Given the description of an element on the screen output the (x, y) to click on. 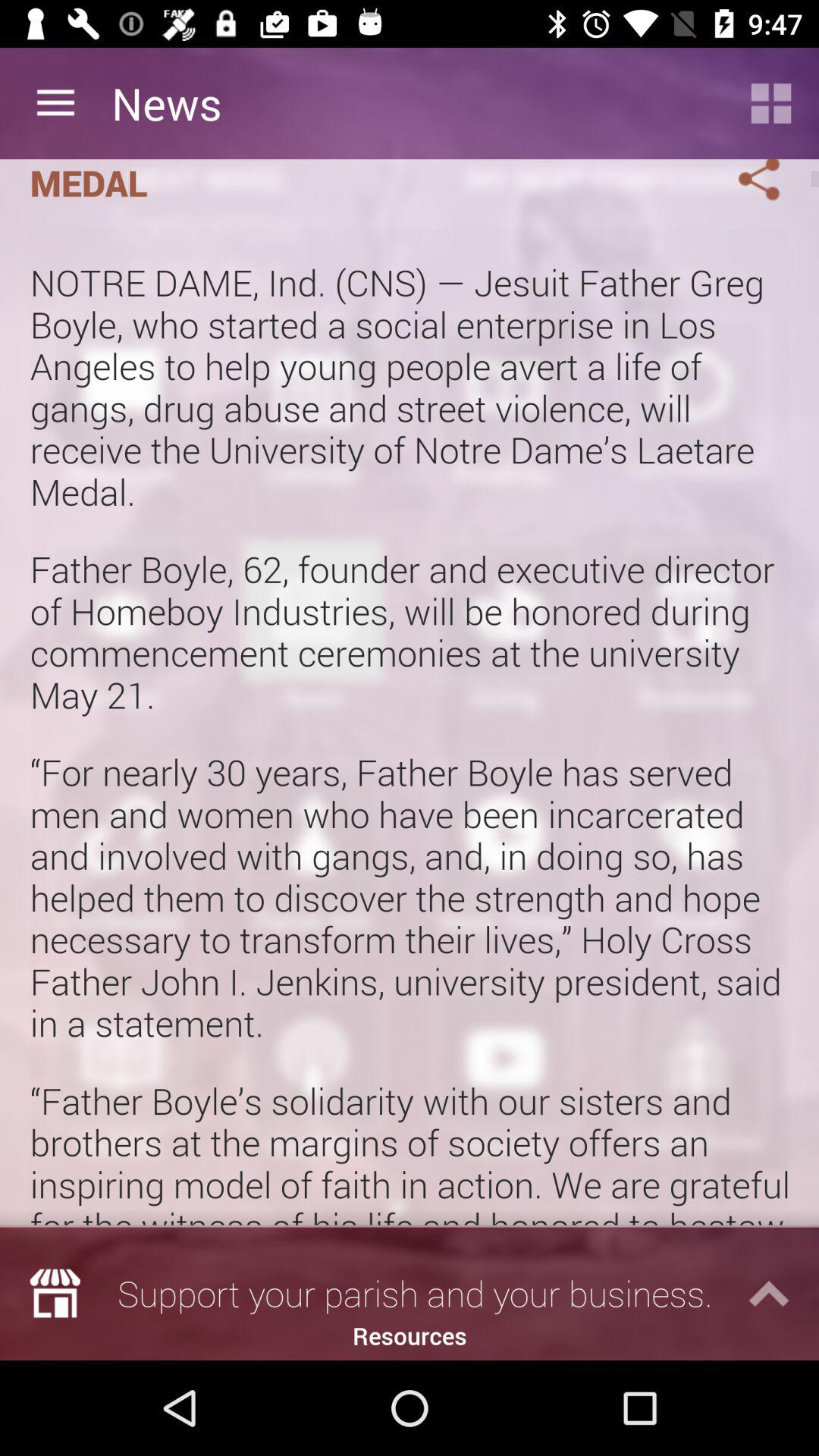
turn off the homeboy industries founder item (361, 183)
